Given the description of an element on the screen output the (x, y) to click on. 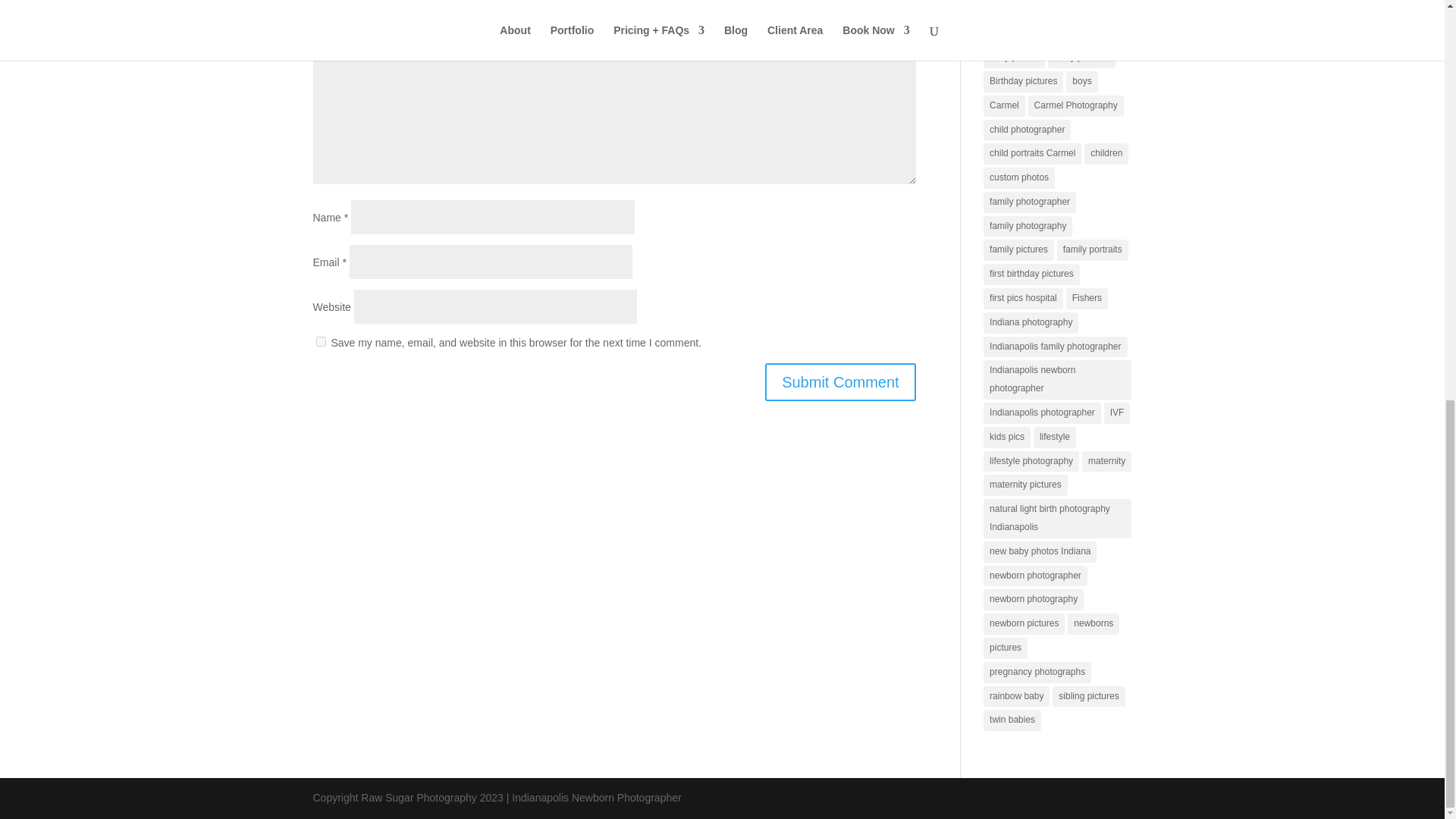
Submit Comment (840, 382)
baby photographers Fishers (1046, 33)
yes (319, 341)
Submit Comment (840, 382)
Birthday pictures (1023, 81)
baby photos (1014, 56)
baby photographer (1027, 10)
Baby pictures (1081, 56)
